Given the description of an element on the screen output the (x, y) to click on. 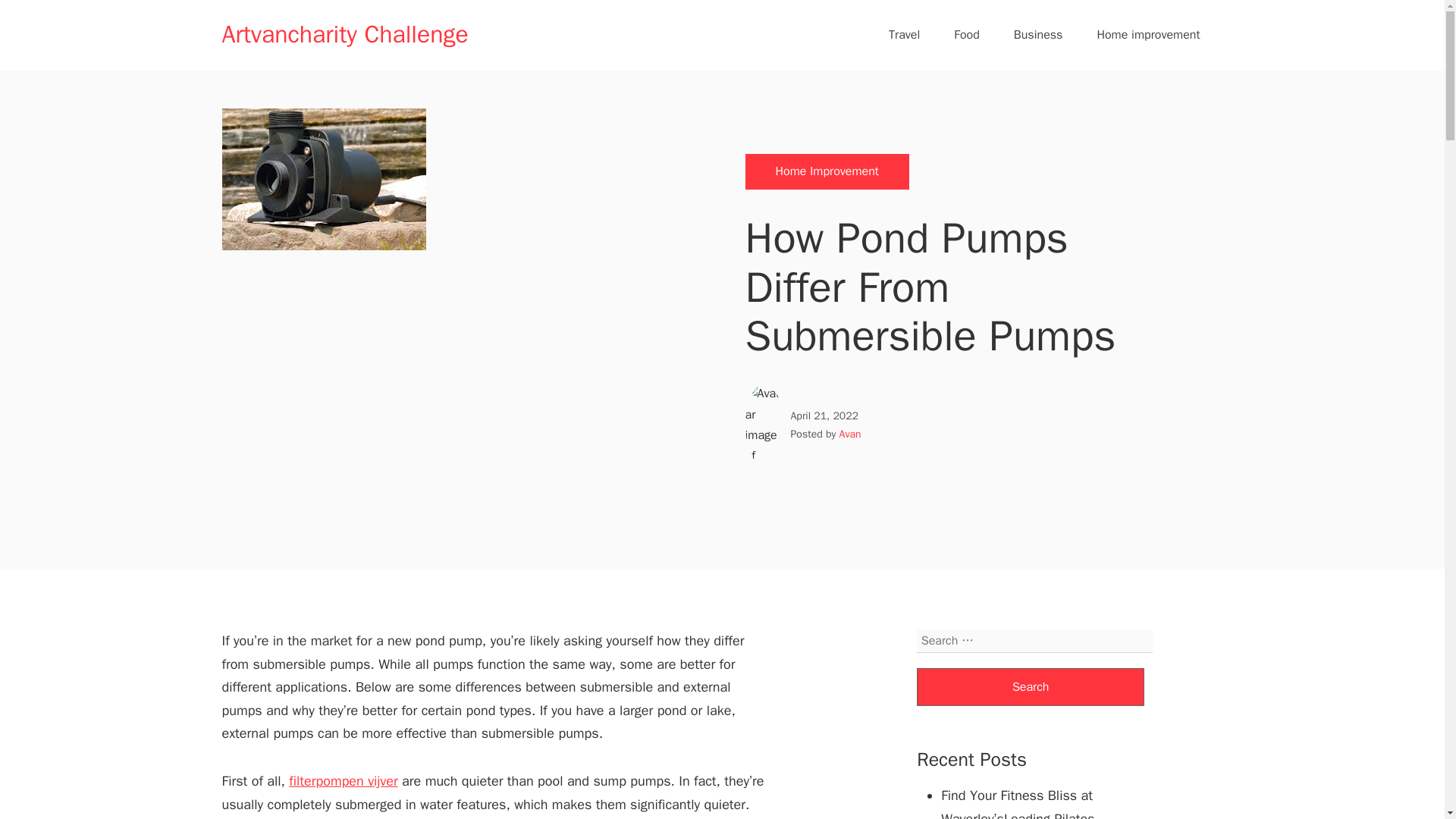
Home improvement (1147, 34)
Business (1038, 34)
Search (1030, 686)
Home Improvement (826, 171)
Food (966, 34)
Avan (850, 433)
filterpompen vijver (342, 781)
Travel (904, 34)
April 21, 2022 (824, 415)
Search (1030, 686)
Search (1030, 686)
Artvancharity Challenge (344, 33)
